Given the description of an element on the screen output the (x, y) to click on. 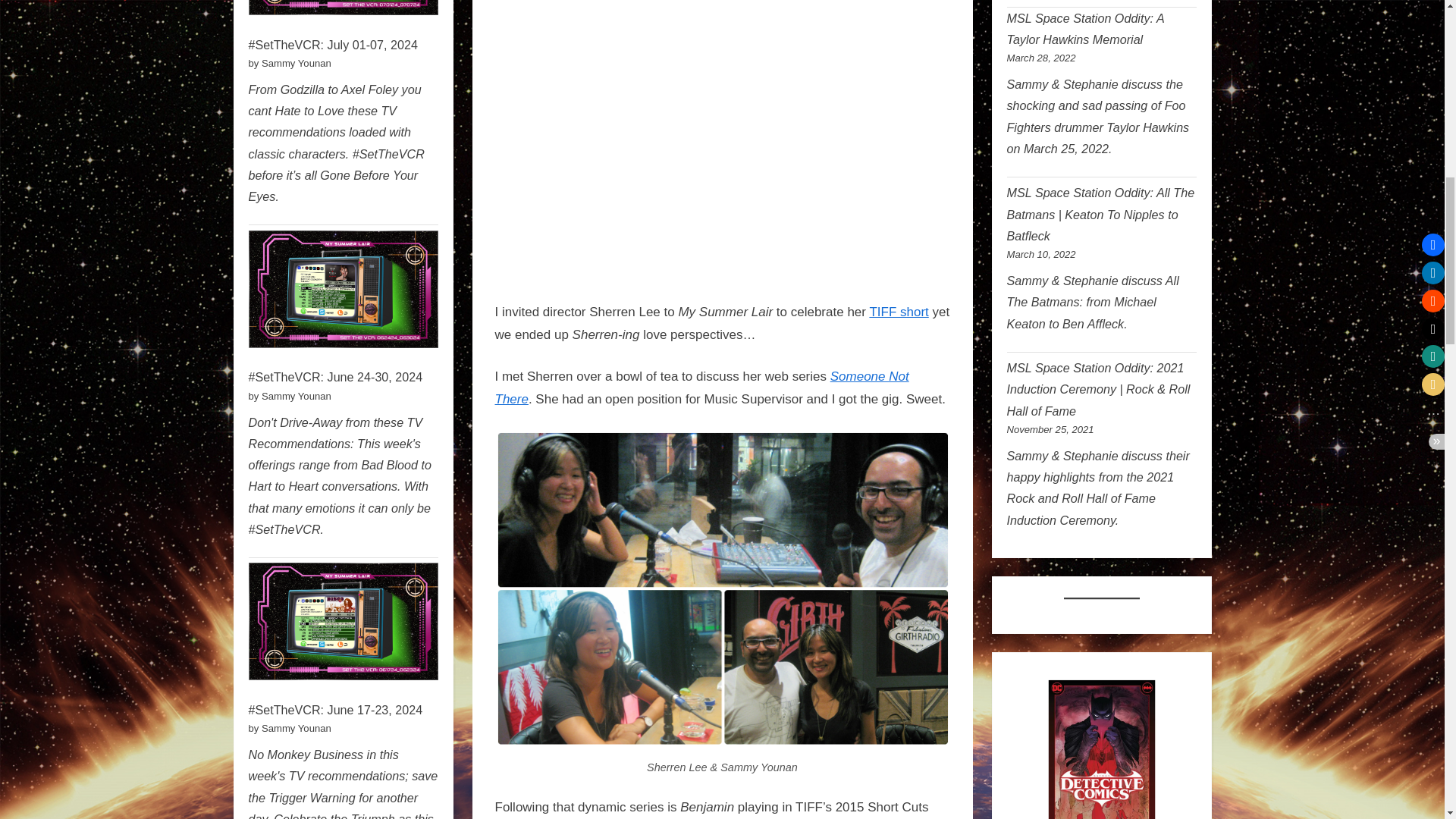
TIFF short (898, 311)
Someone Not There (701, 387)
